Given the description of an element on the screen output the (x, y) to click on. 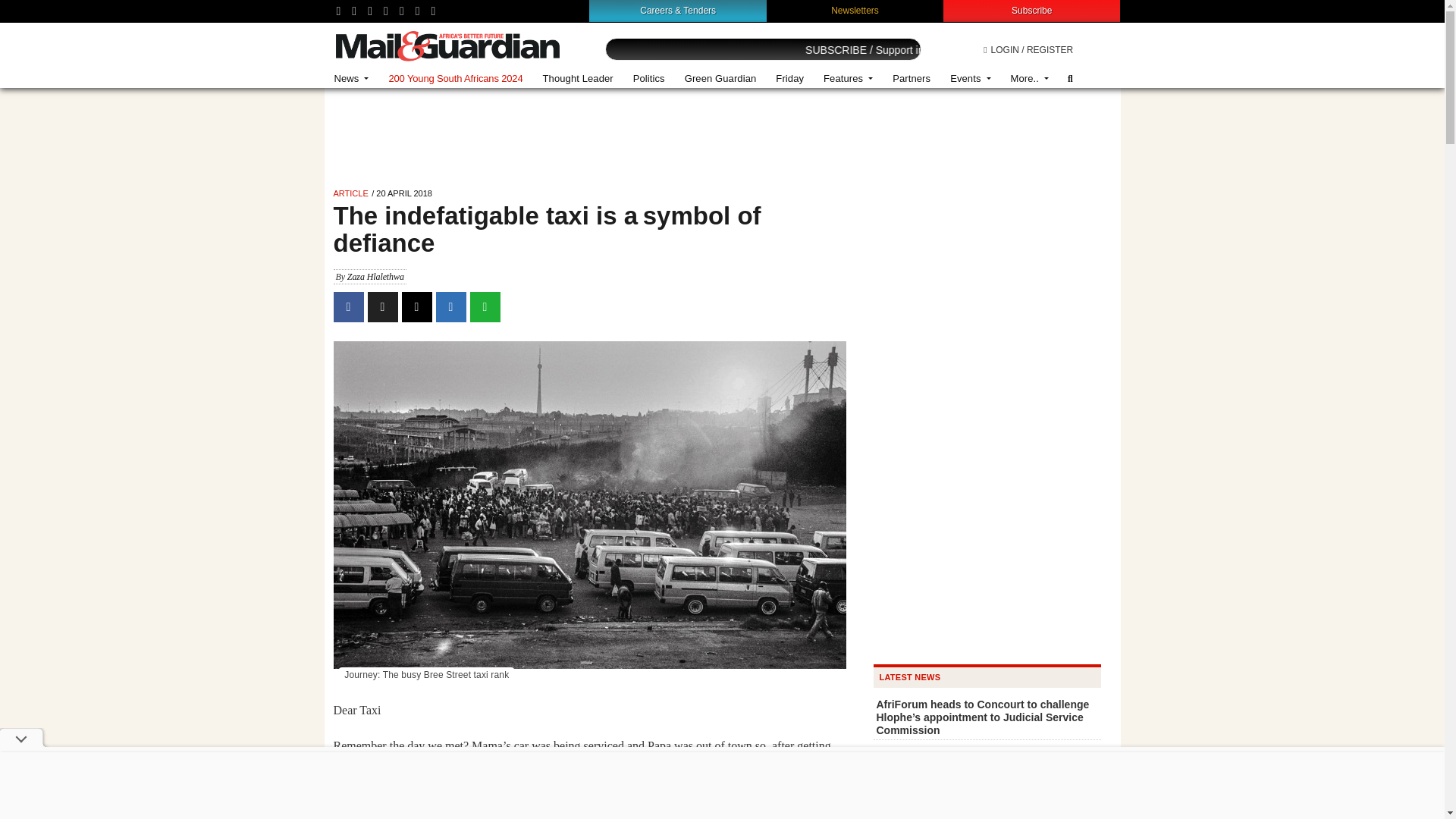
News (351, 78)
Subscribe (1031, 9)
Politics (649, 78)
Newsletters (855, 9)
Friday (789, 78)
200 Young South Africans 2024 (455, 78)
Green Guardian (721, 78)
News (351, 78)
Thought Leader (577, 78)
